Given the description of an element on the screen output the (x, y) to click on. 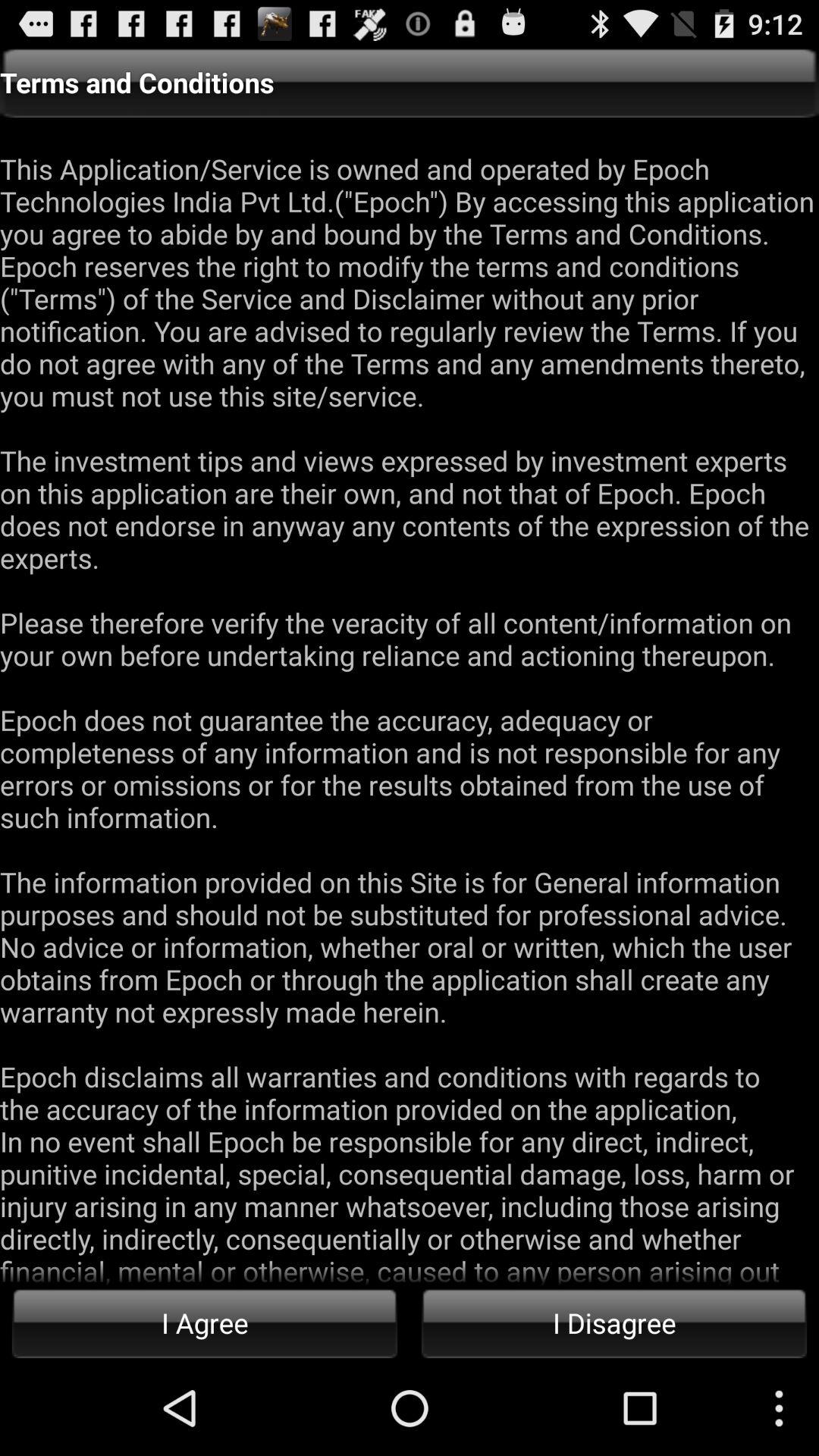
launch the icon to the left of the  i disagree  button (204, 1323)
